Given the description of an element on the screen output the (x, y) to click on. 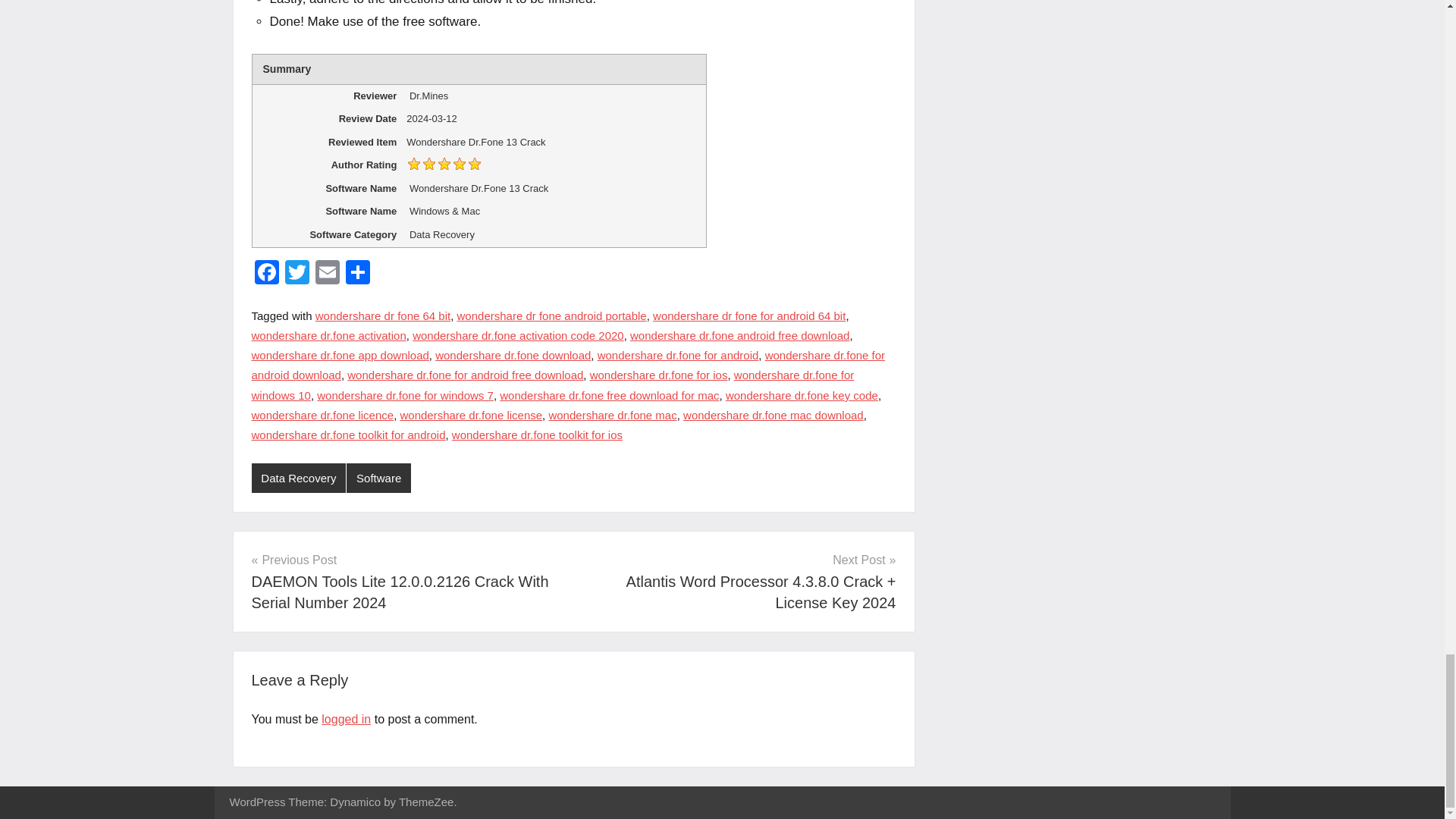
wondershare dr.fone for android free download (465, 374)
wondershare dr.fone android free download (739, 335)
wondershare dr fone android portable (551, 315)
wondershare dr fone 64 bit (382, 315)
Twitter (297, 274)
Facebook (266, 274)
wondershare dr.fone free download for mac (609, 395)
Twitter (297, 274)
wondershare dr.fone for android (677, 354)
wondershare dr.fone for windows 10 (552, 384)
